Given the description of an element on the screen output the (x, y) to click on. 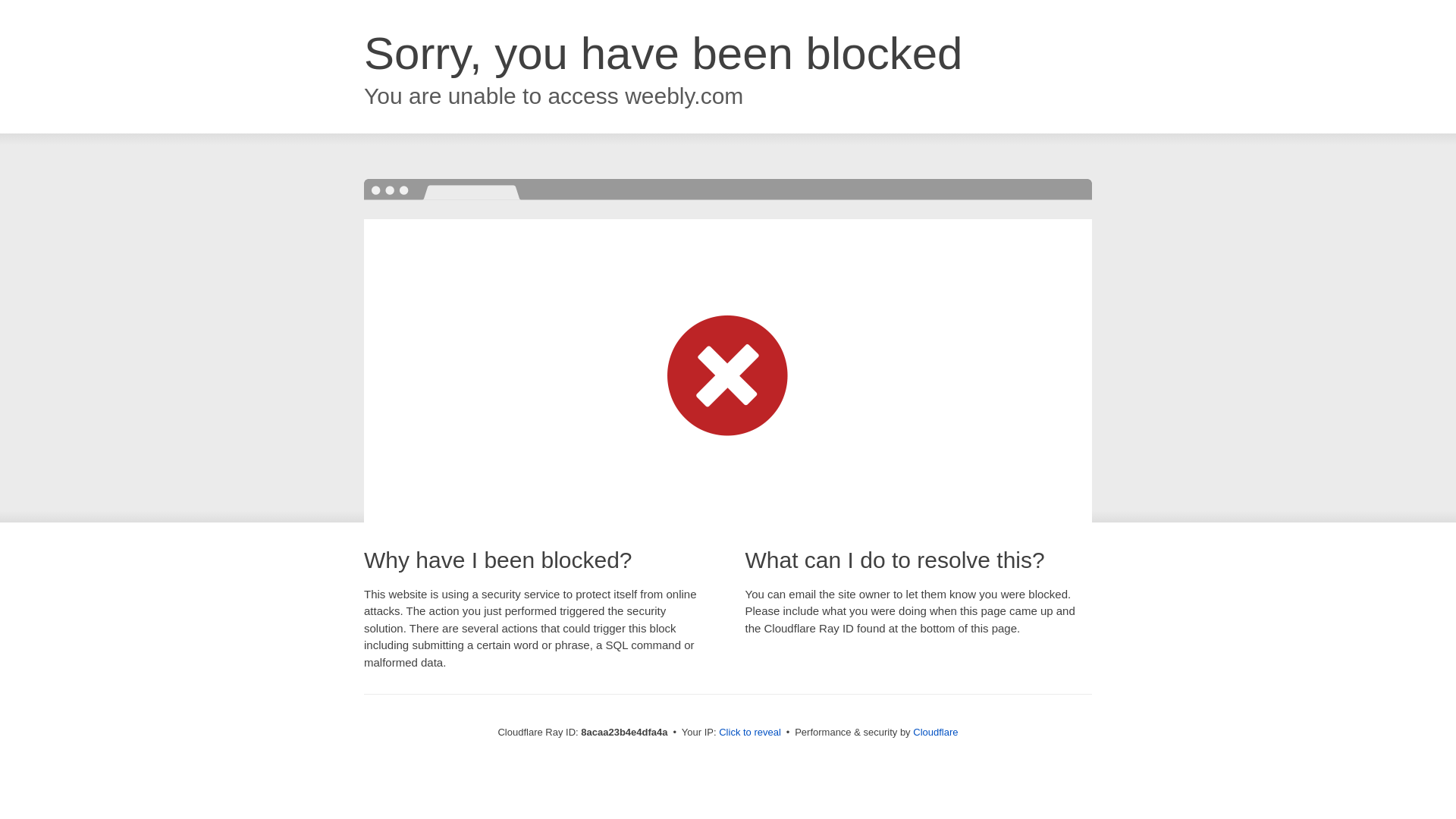
Cloudflare (935, 731)
Click to reveal (749, 732)
